Given the description of an element on the screen output the (x, y) to click on. 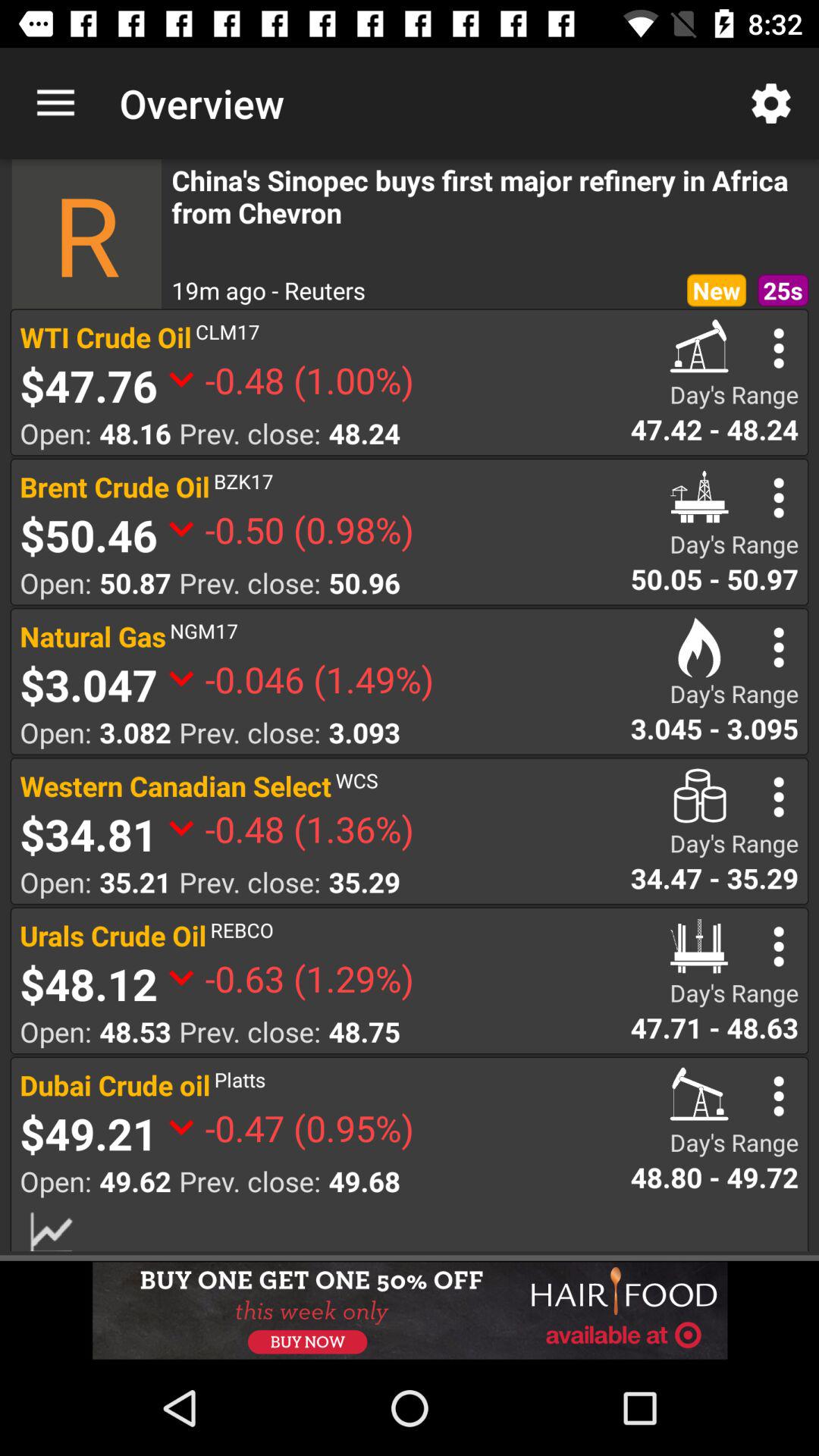
select more option (778, 348)
